Given the description of an element on the screen output the (x, y) to click on. 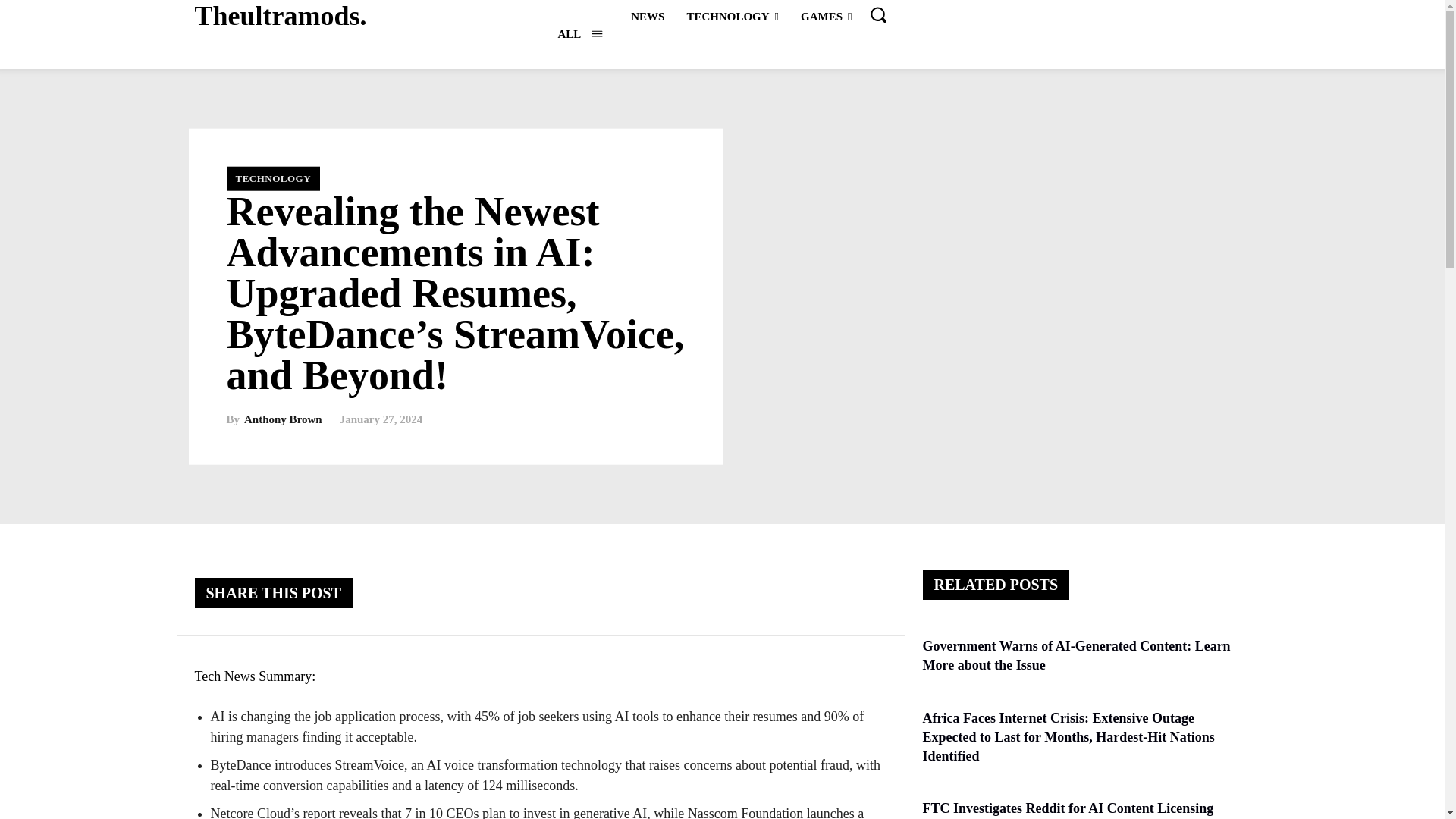
Theultramods. (279, 16)
All (579, 33)
NEWS (646, 15)
ALL (579, 33)
TECHNOLOGY (732, 15)
